Given the description of an element on the screen output the (x, y) to click on. 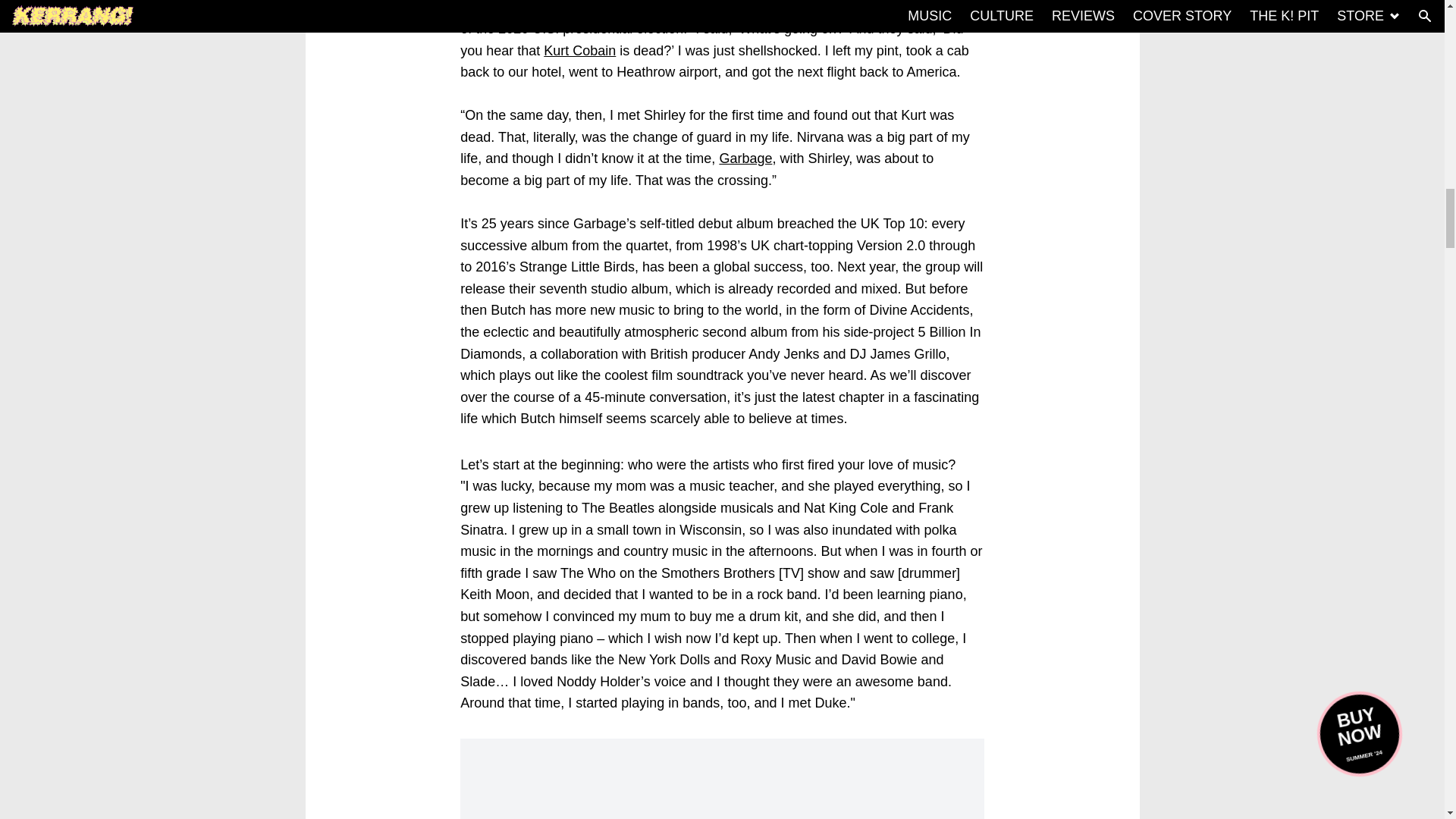
Kurt Cobain (579, 49)
Garbage (745, 158)
